Given the description of an element on the screen output the (x, y) to click on. 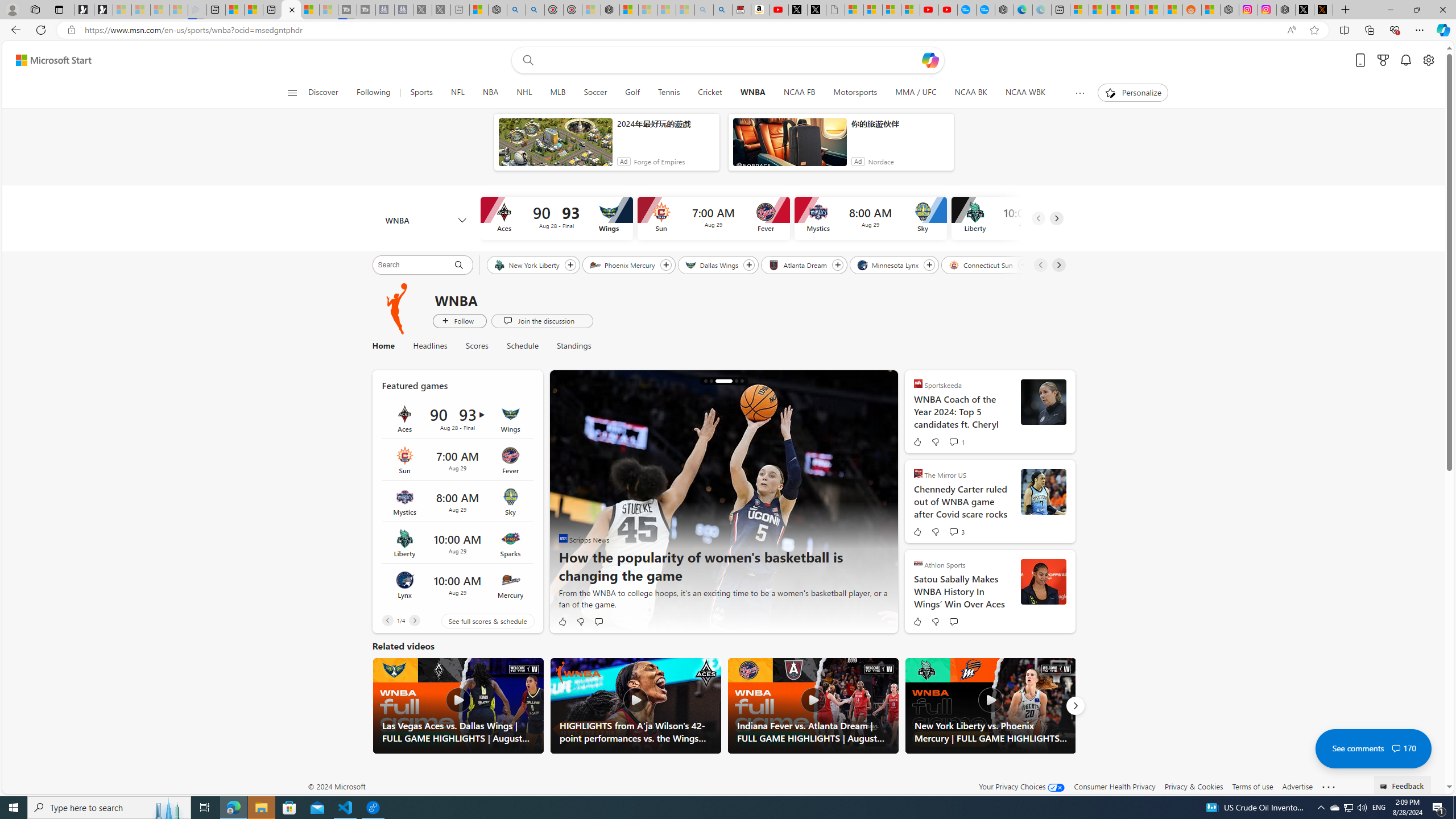
NFL (456, 92)
Follow New York Liberty (570, 265)
Tennis (667, 92)
Previous (387, 620)
Streaming Coverage | T3 - Sleeping (347, 9)
